Given the description of an element on the screen output the (x, y) to click on. 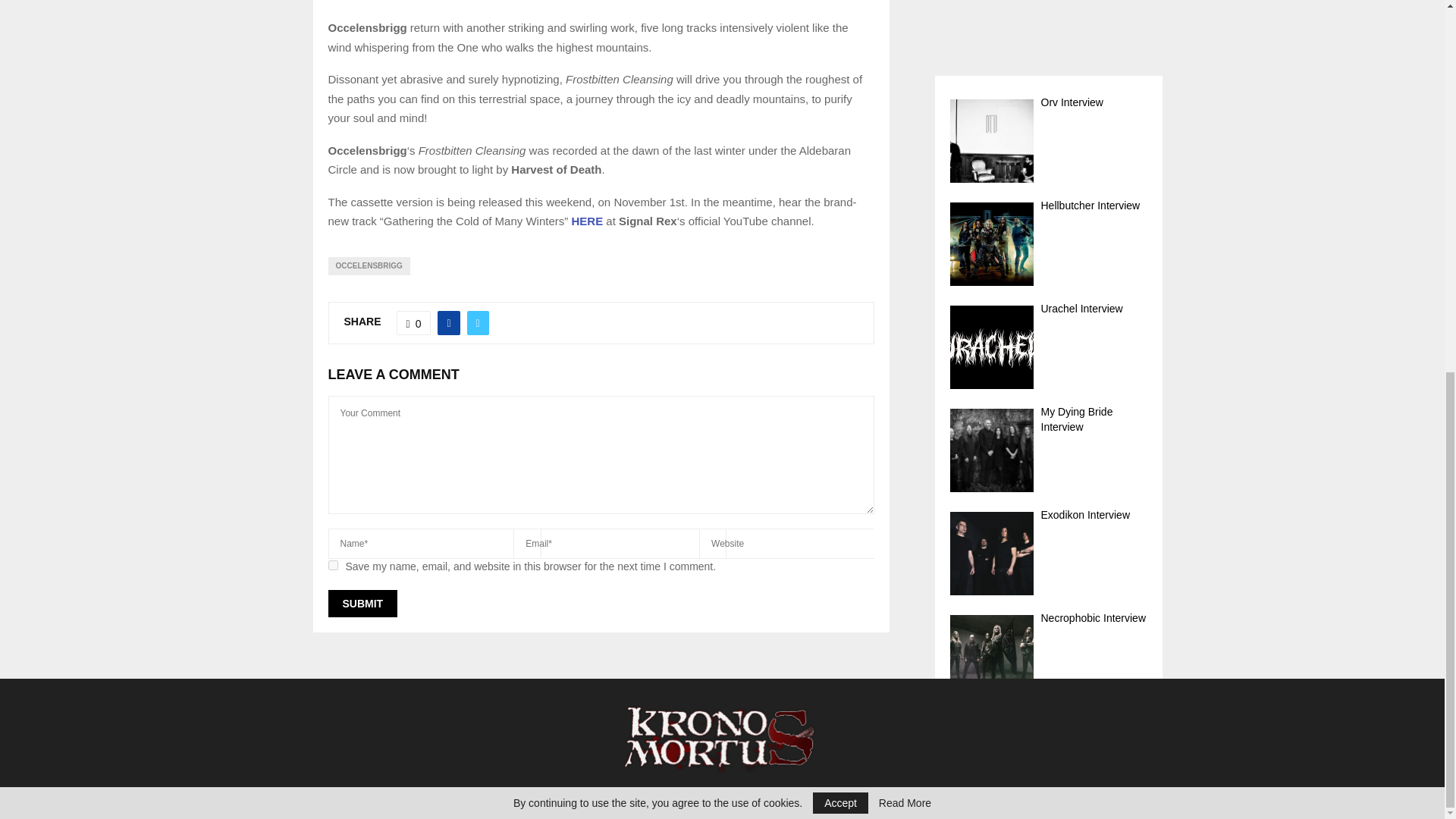
Premieres (1078, 804)
HERE (586, 220)
Feedback (1133, 804)
Submit (362, 603)
OCCELENSBRIGG (368, 265)
Like (413, 322)
Interviews (1021, 804)
News (973, 804)
Vitriol Interview (1048, 183)
yes (332, 565)
Necrophobic Interview (1048, 11)
Troll Interview (1048, 80)
0 (413, 322)
Submit (362, 603)
